Given the description of an element on the screen output the (x, y) to click on. 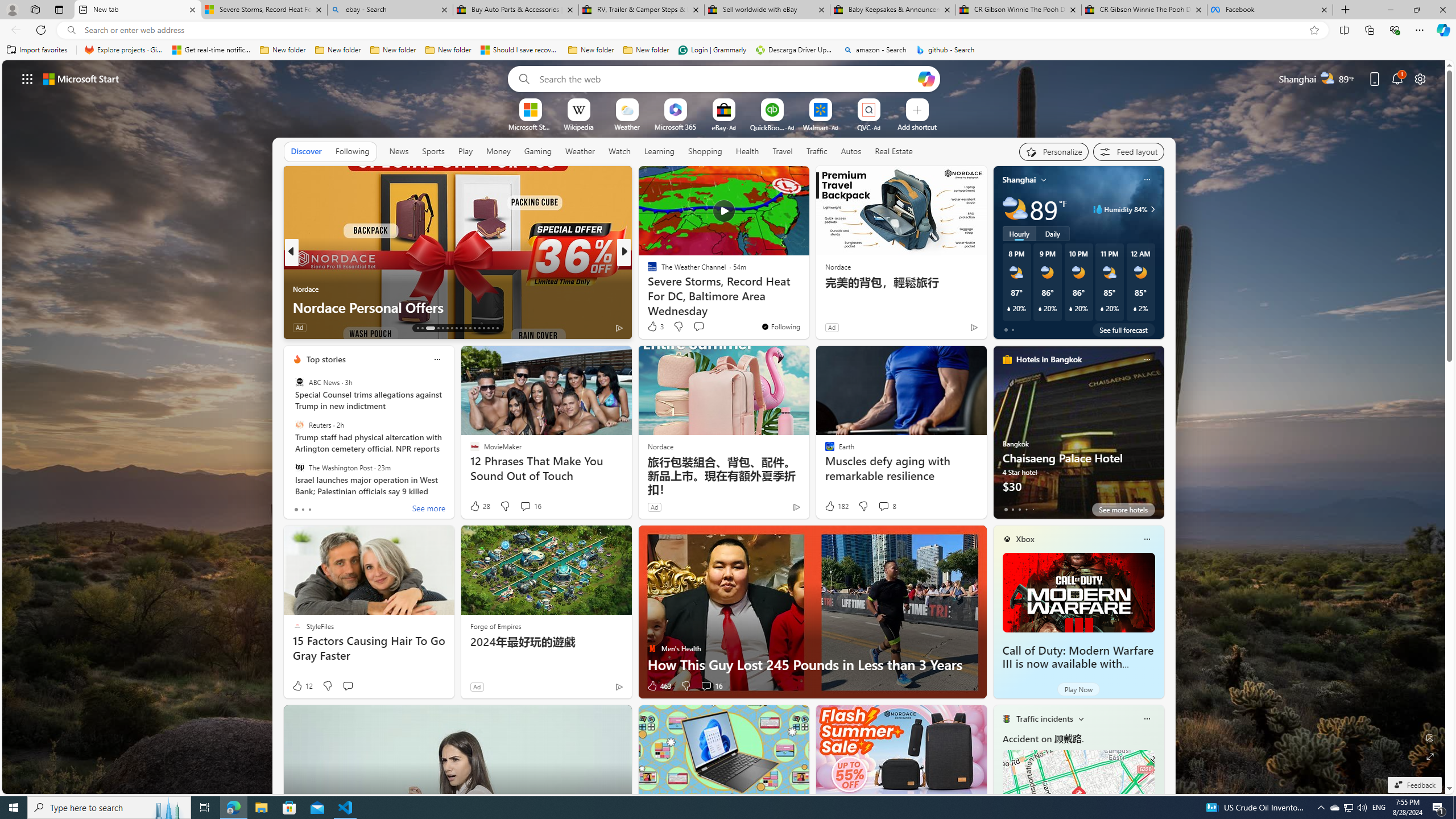
102 Like (654, 327)
How to get rid of body odor, according to medical experts (807, 298)
Simply More Time (647, 288)
View comments 16 Comment (705, 685)
Lonely dolphin may be behind series of attacks on swimmers (807, 298)
AutomationID: tab-13 (417, 328)
Edit Background (1430, 737)
Login | Grammarly (712, 49)
